Given the description of an element on the screen output the (x, y) to click on. 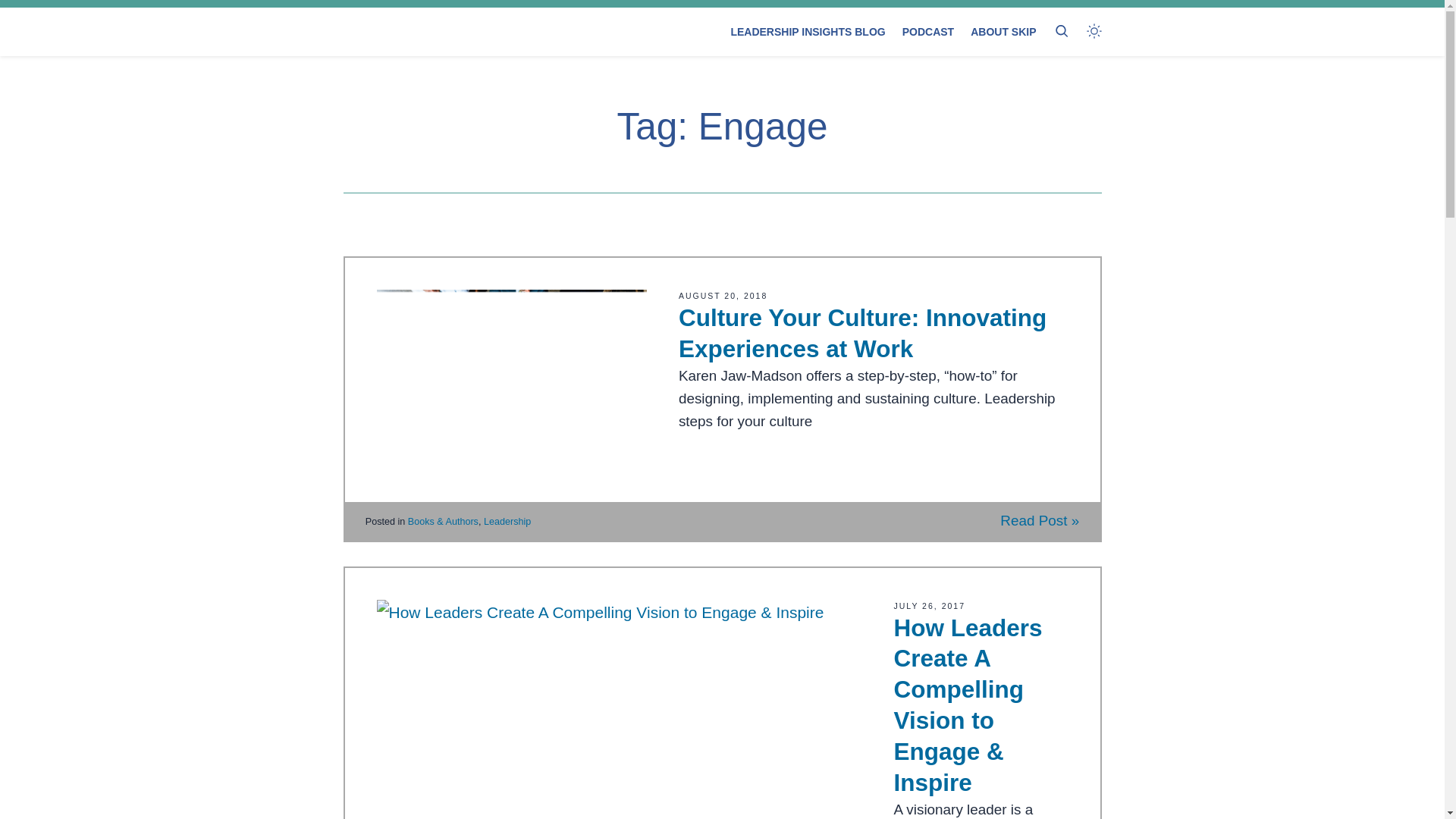
Leadership (507, 520)
Culture Your Culture: Innovating Experiences at Work (862, 332)
PODCAST (927, 31)
Toggle dark mode (1093, 31)
ABOUT SKIP (1003, 31)
LEADERSHIP INSIGHTS BLOG (807, 31)
Search the site (1059, 31)
Aim Higher: the podcast with purpose (927, 31)
Learn more about Skip Prichard (1003, 31)
